Given the description of an element on the screen output the (x, y) to click on. 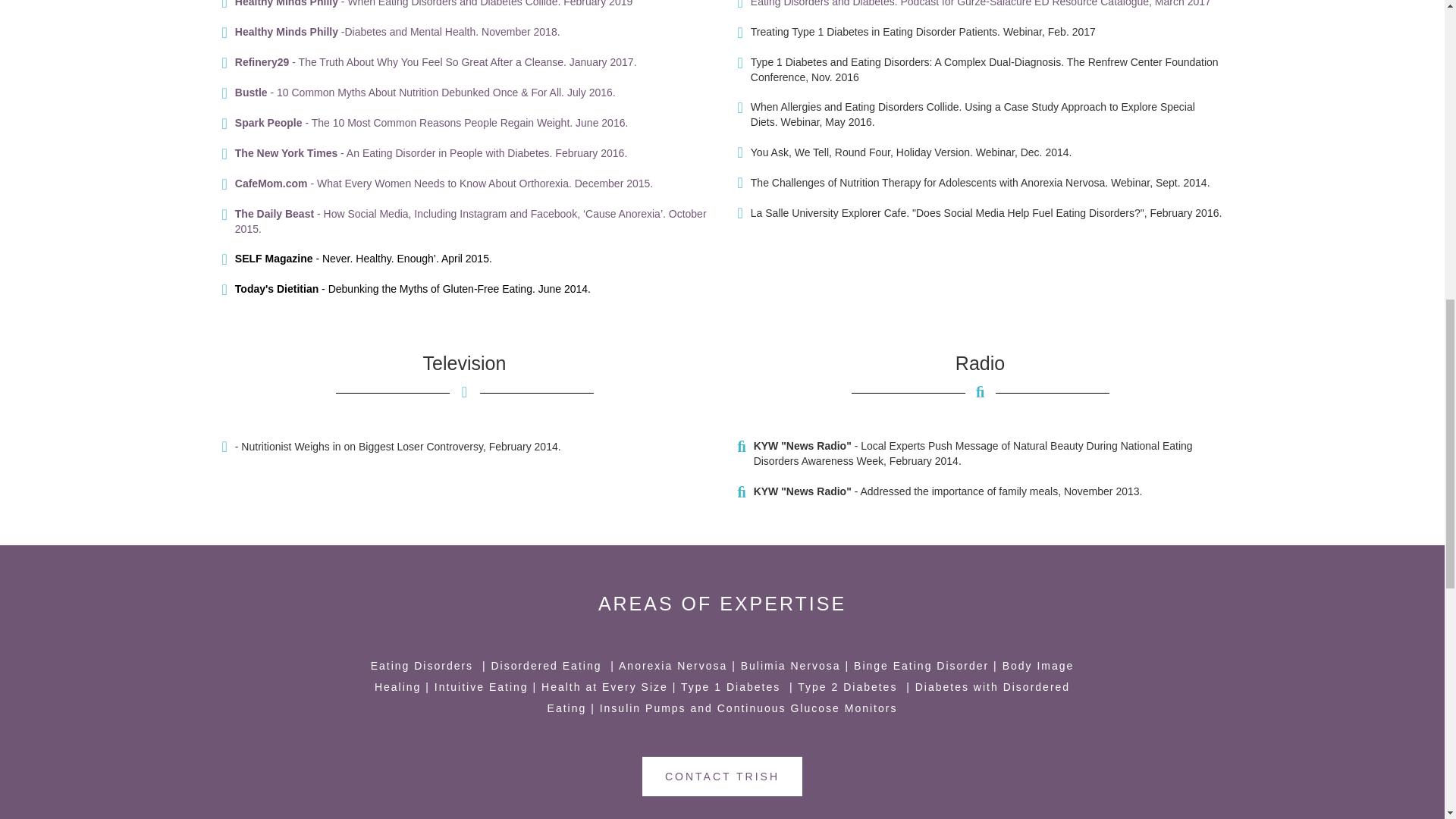
CONTACT TRISH (722, 776)
